Given the description of an element on the screen output the (x, y) to click on. 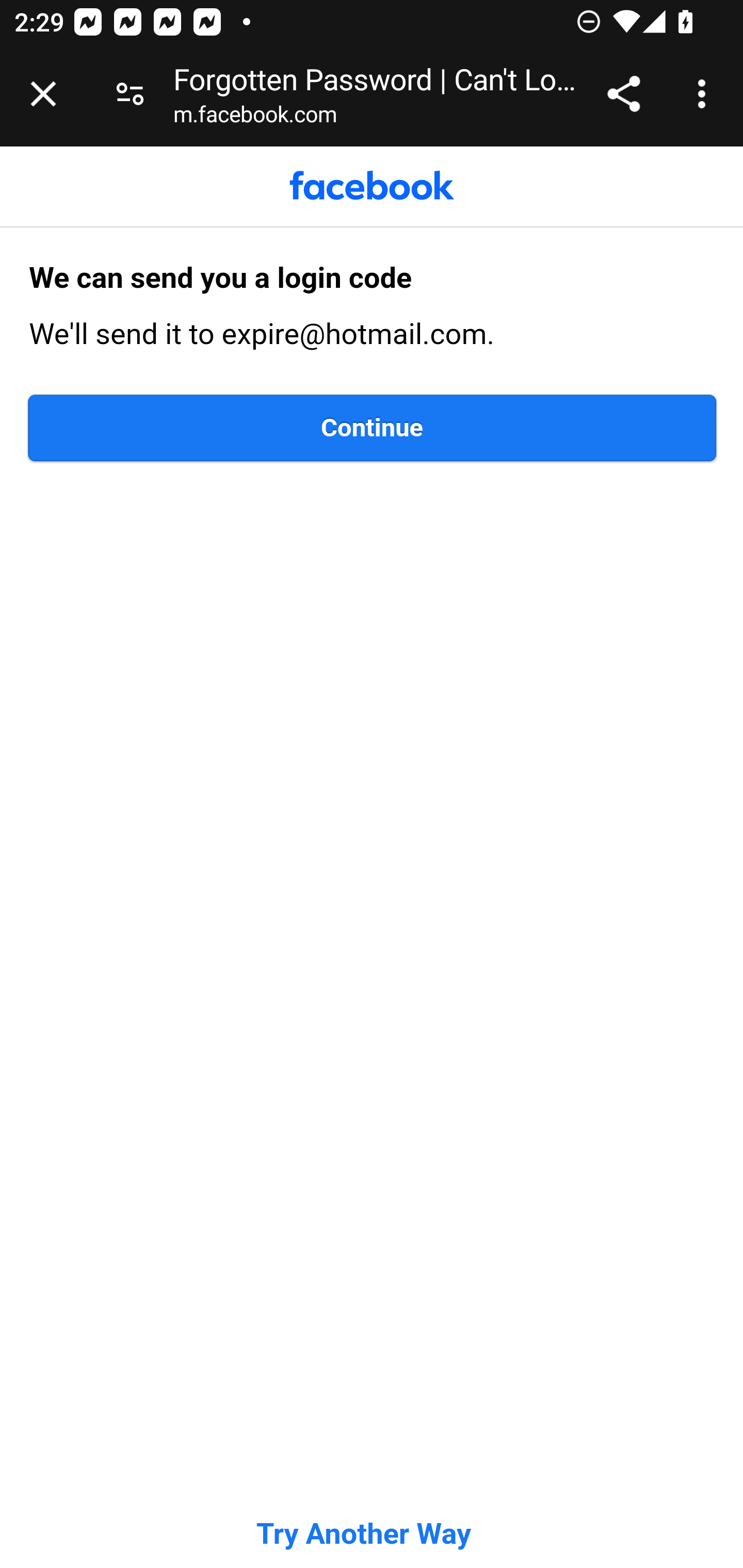
Close tab (43, 93)
Share link address (623, 93)
Customize and control Google Chrome (705, 93)
Connection is secure (129, 93)
m.facebook.com (254, 117)
Facebook (371, 185)
Continue (372, 427)
Try Another Way (363, 1534)
